Given the description of an element on the screen output the (x, y) to click on. 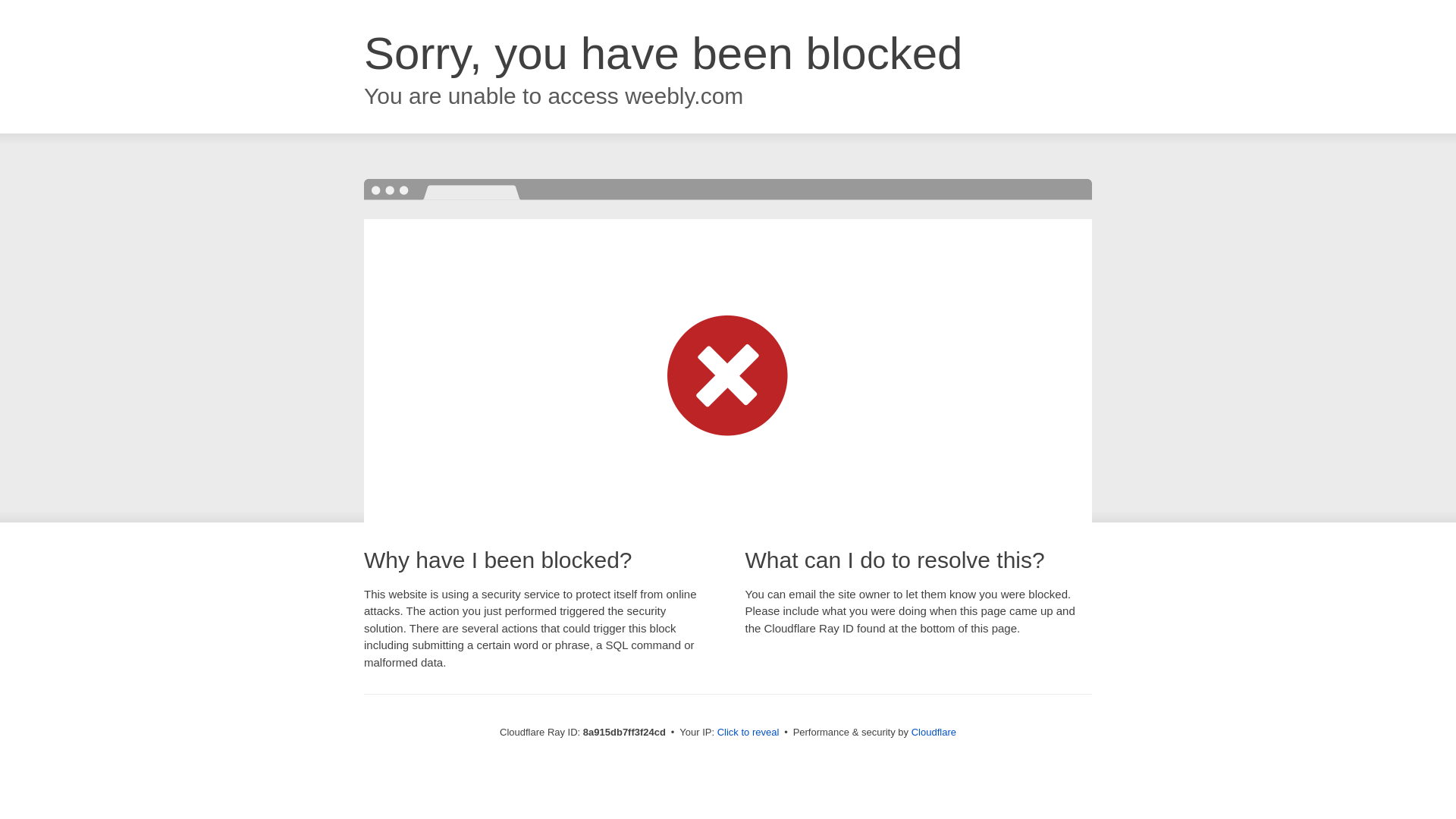
Click to reveal (747, 732)
Cloudflare (933, 731)
